Given the description of an element on the screen output the (x, y) to click on. 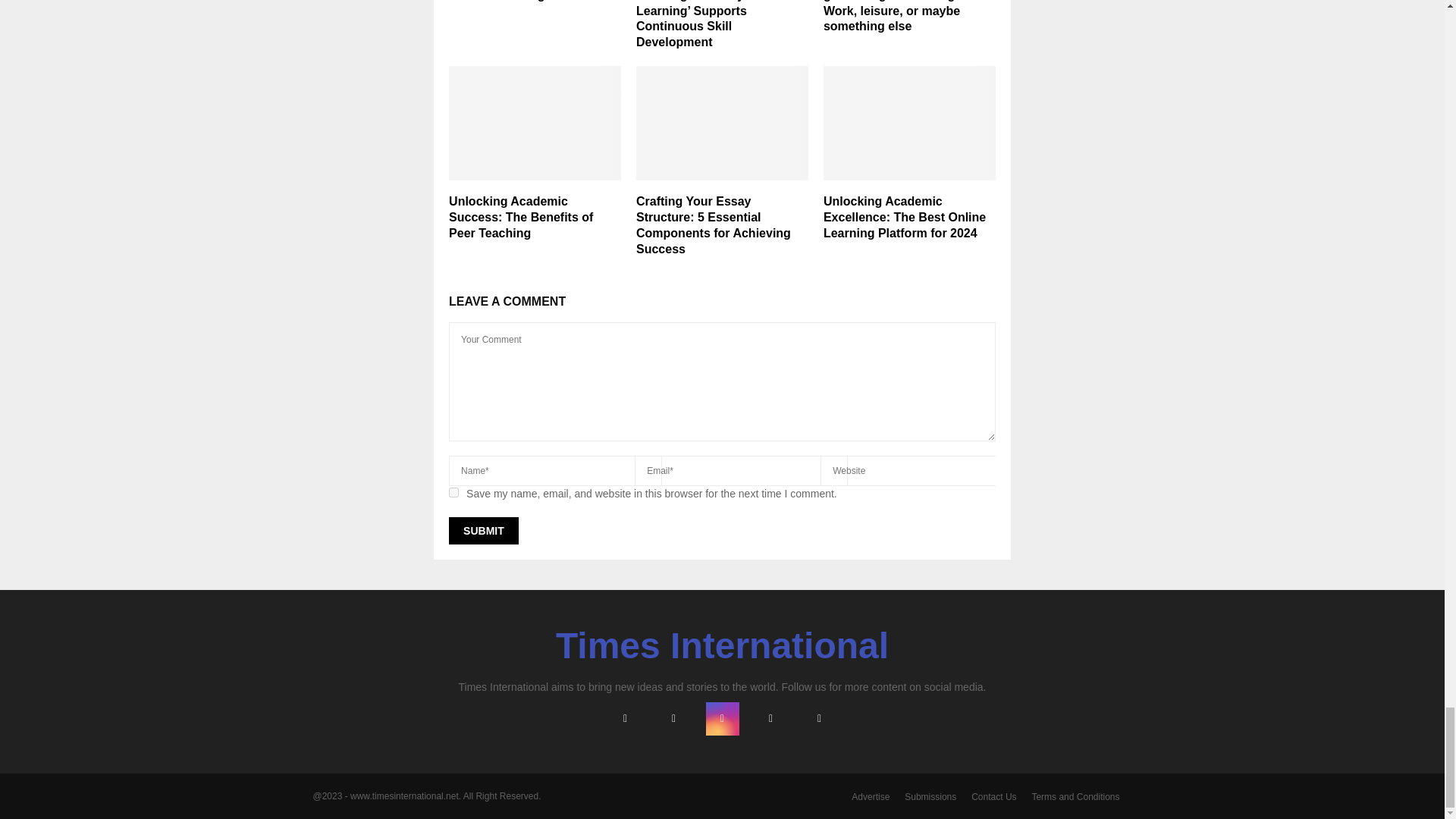
yes (453, 492)
Submit (483, 530)
